Given the description of an element on the screen output the (x, y) to click on. 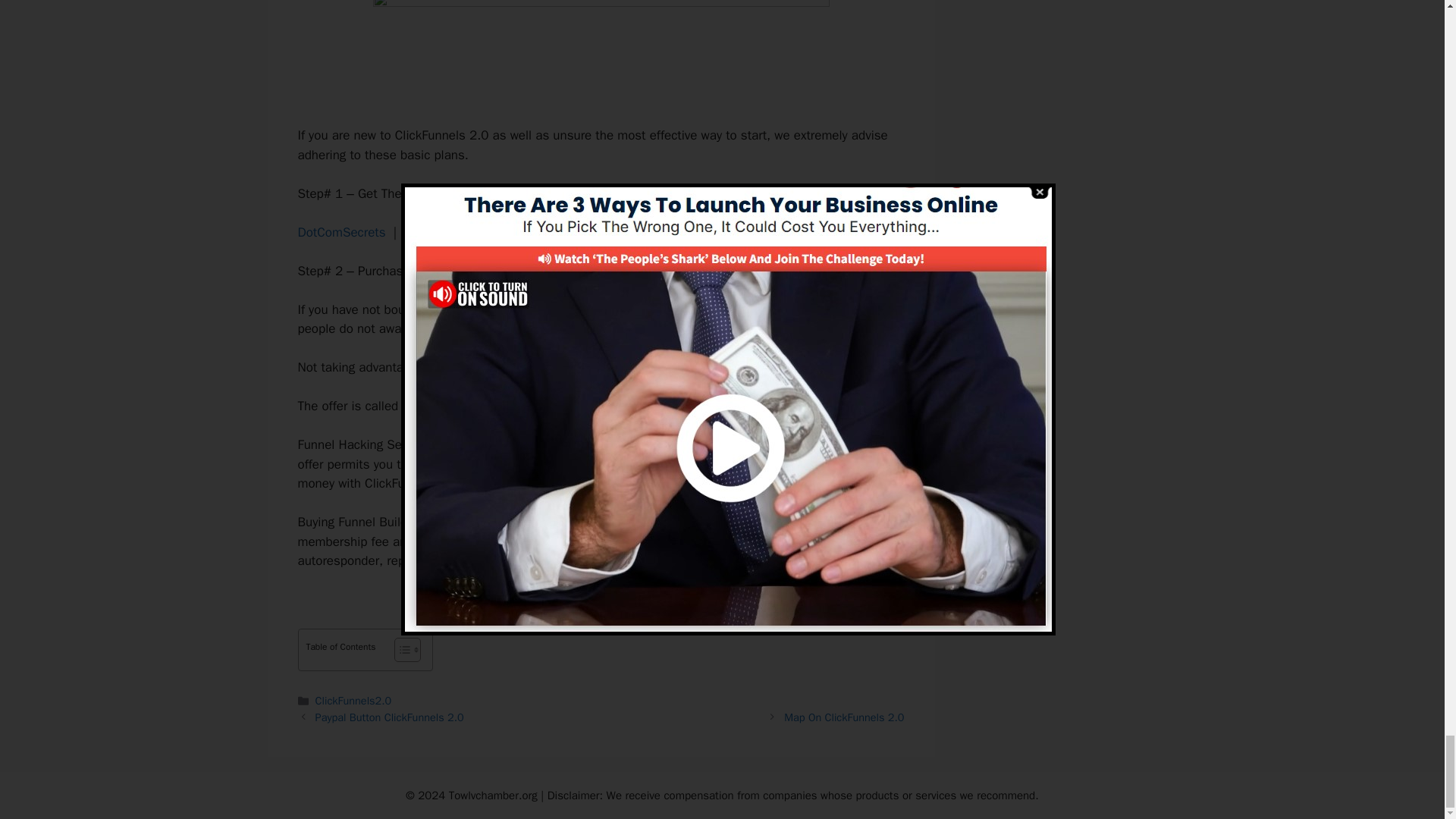
DotComSecrets (341, 232)
Expert Secrets (445, 232)
Funnel Builder Secrets (464, 406)
ClickFunnels 2.0 (472, 309)
Traffic Secrets (545, 232)
